Given the description of an element on the screen output the (x, y) to click on. 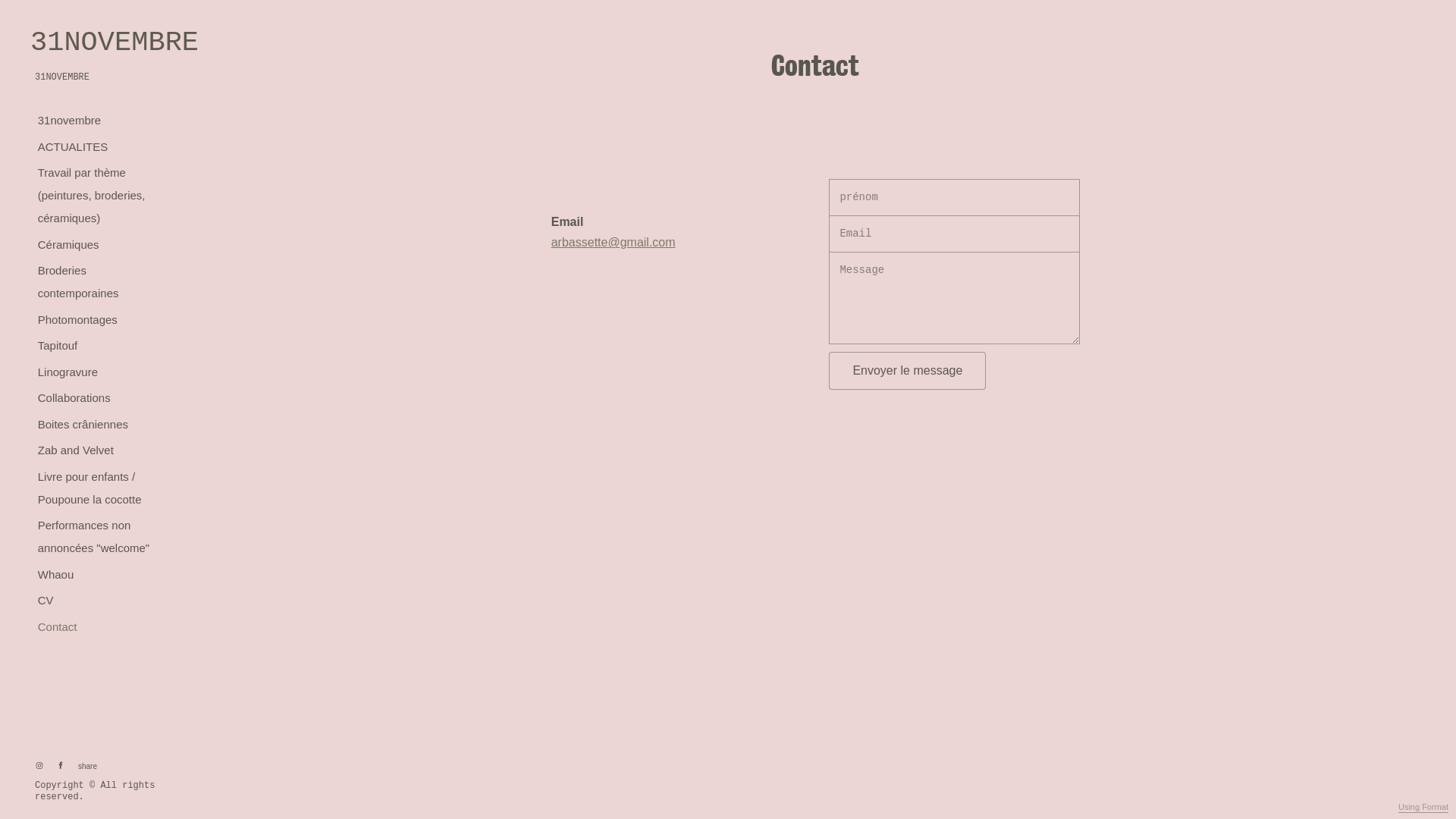
Collaborations Element type: text (73, 397)
Contact Element type: text (56, 626)
Livre pour enfants / Poupoune la cocotte Element type: text (94, 488)
Photomontages Element type: text (76, 319)
Broderies contemporaines Element type: text (94, 281)
CV Element type: text (45, 600)
31novembre Element type: text (68, 120)
Using Format Element type: text (1423, 807)
Envoyer le message Element type: text (906, 370)
arbassette@gmail.com Element type: text (613, 241)
Whaou Element type: text (55, 574)
31NOVEMBRE Element type: text (95, 42)
share Element type: text (84, 766)
Linogravure Element type: text (67, 371)
ACTUALITES Element type: text (72, 146)
Zab and Velvet Element type: text (75, 450)
Tapitouf Element type: text (57, 345)
